Given the description of an element on the screen output the (x, y) to click on. 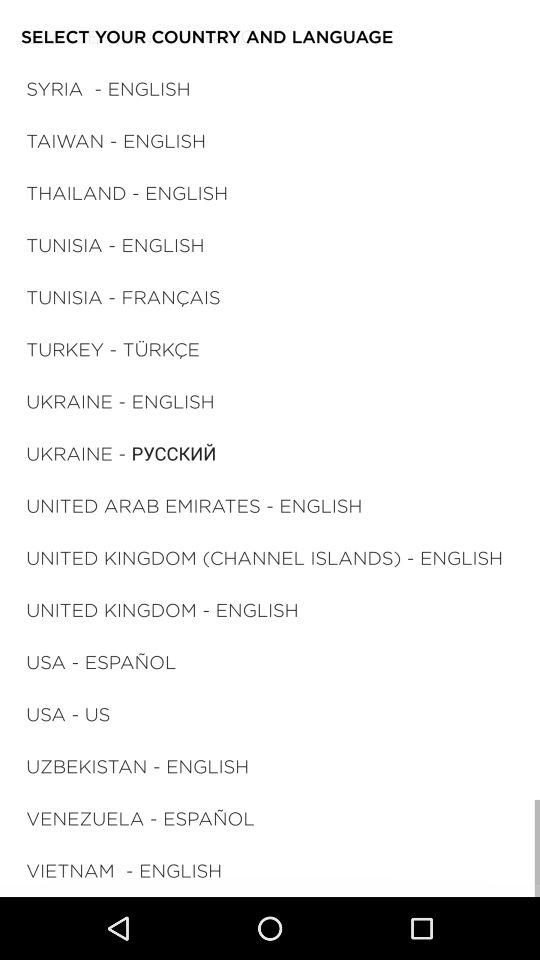
open the tunisia - english icon (115, 244)
